Given the description of an element on the screen output the (x, y) to click on. 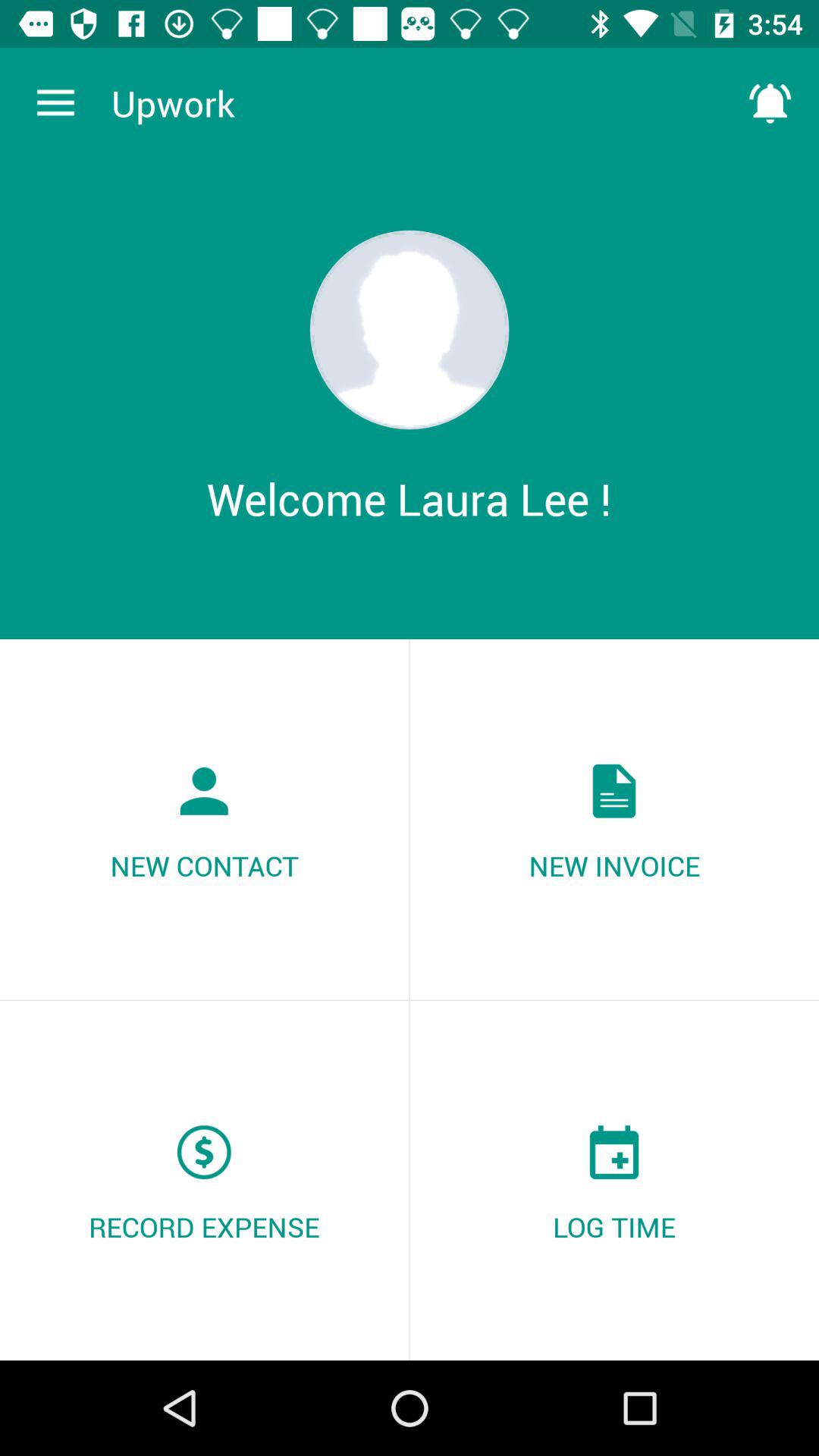
open the item next to upwork item (55, 103)
